Given the description of an element on the screen output the (x, y) to click on. 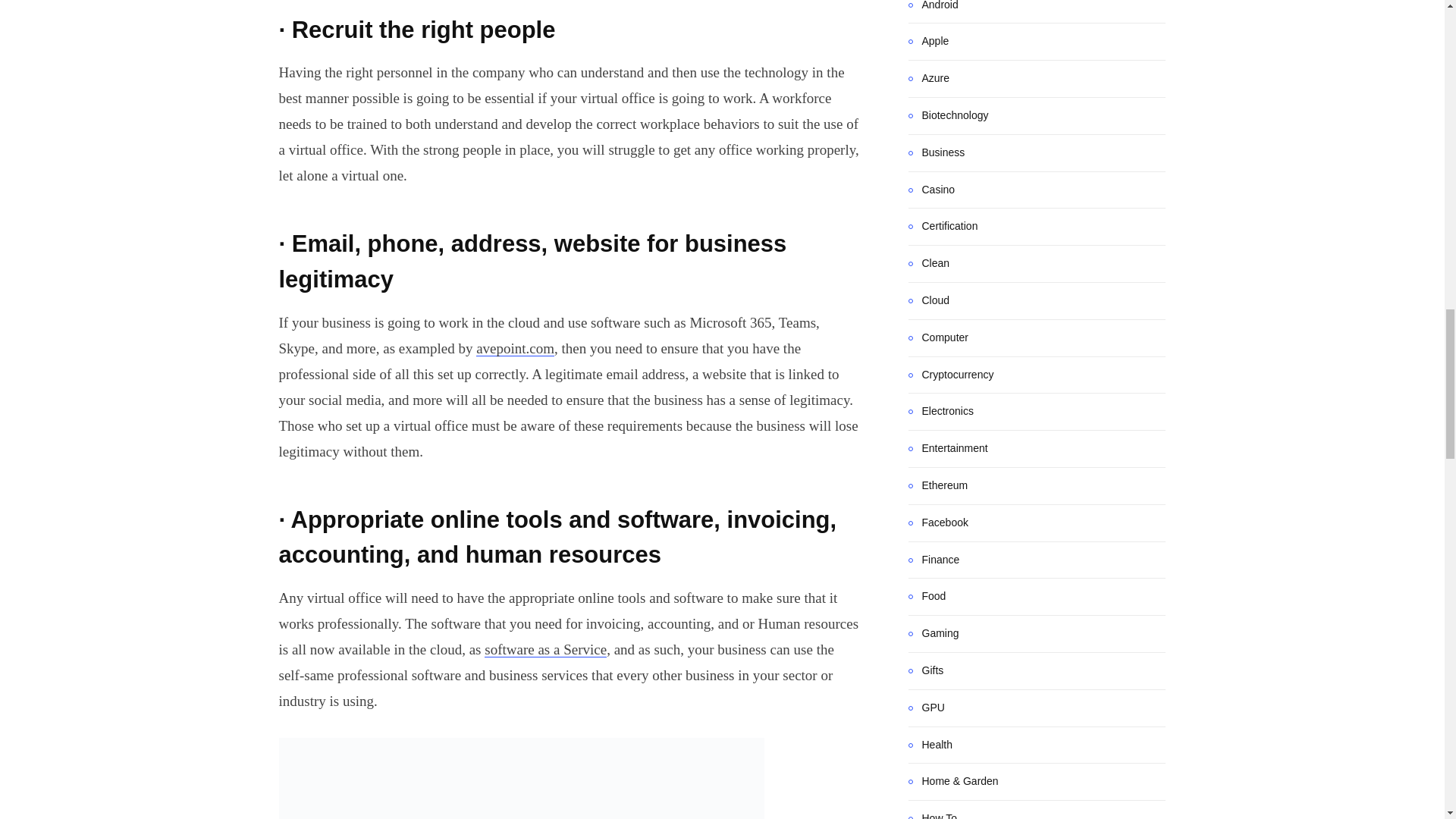
avepoint.com (515, 348)
